Given the description of an element on the screen output the (x, y) to click on. 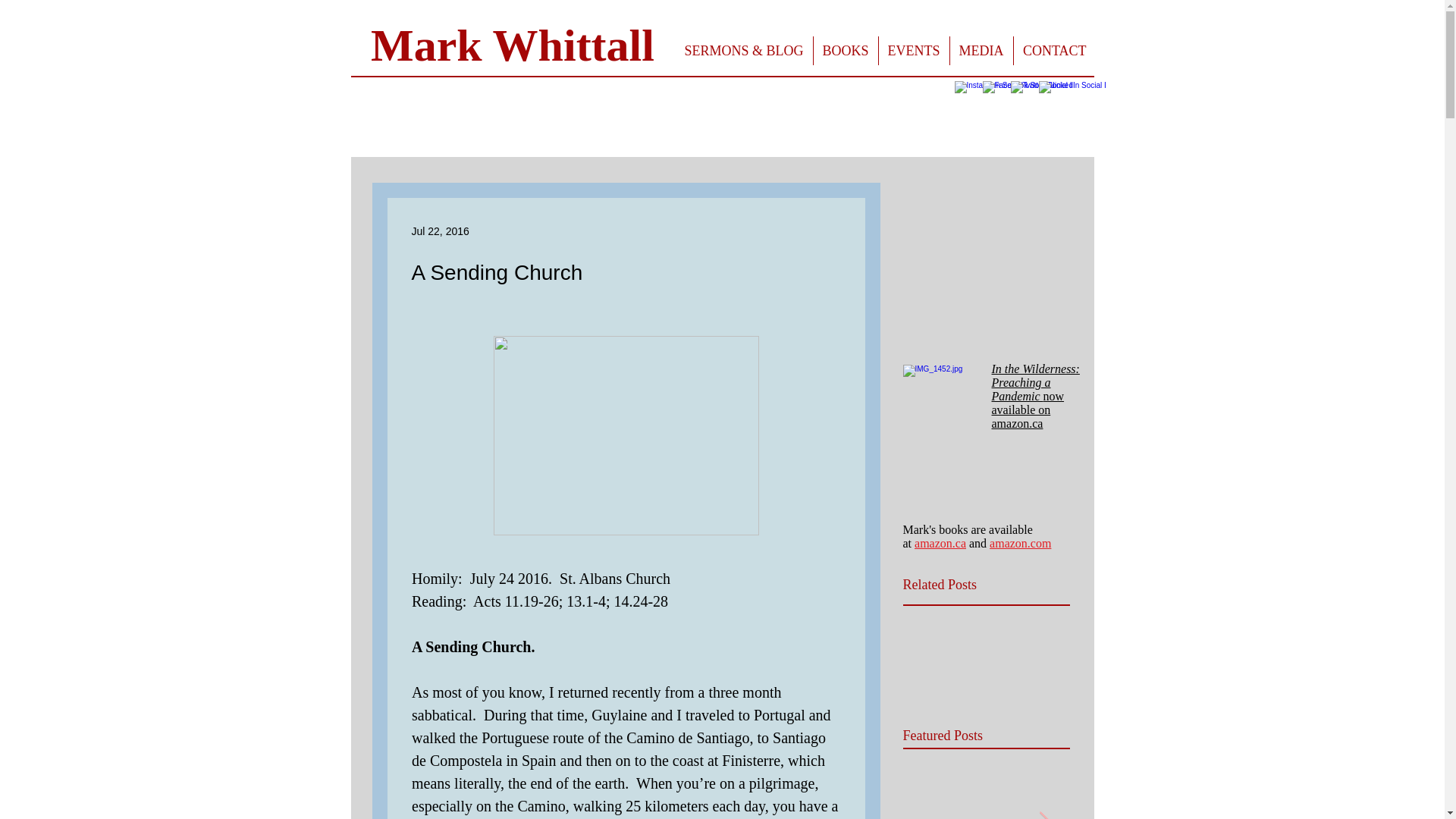
amazon.ca (940, 543)
MEDIA (980, 50)
amazon.com (1020, 543)
Mark Whittall (512, 45)
Jul 22, 2016 (439, 230)
BOOKS (844, 50)
CONTACT (985, 797)
